Given the description of an element on the screen output the (x, y) to click on. 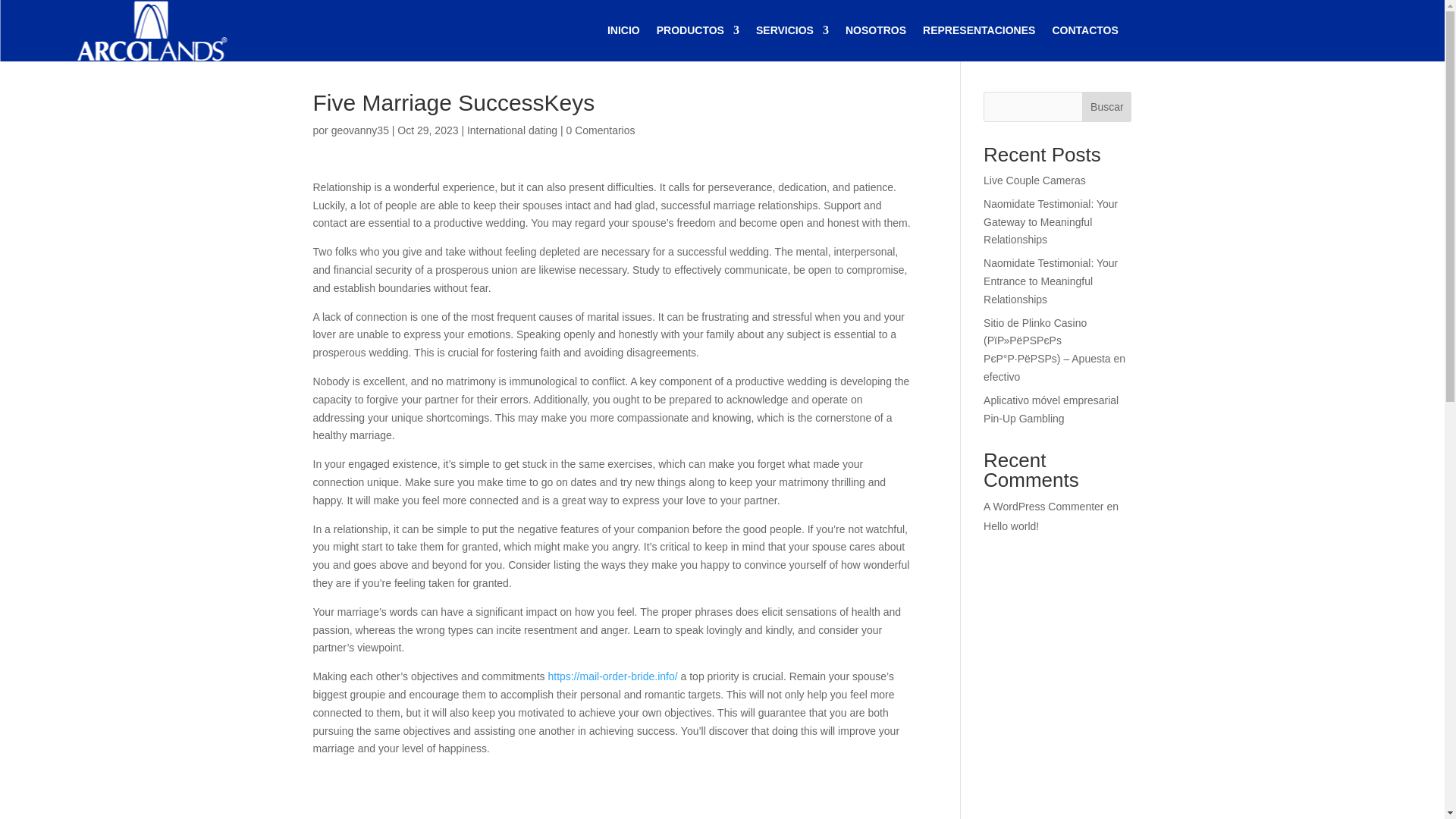
CONTACTOS (1084, 30)
REPRESENTACIONES (979, 30)
PRODUCTOS (697, 30)
geovanny35 (359, 130)
International dating (512, 130)
SERVICIOS (791, 30)
Live Couple Cameras (1035, 180)
Mensajes de geovanny35 (359, 130)
